Given the description of an element on the screen output the (x, y) to click on. 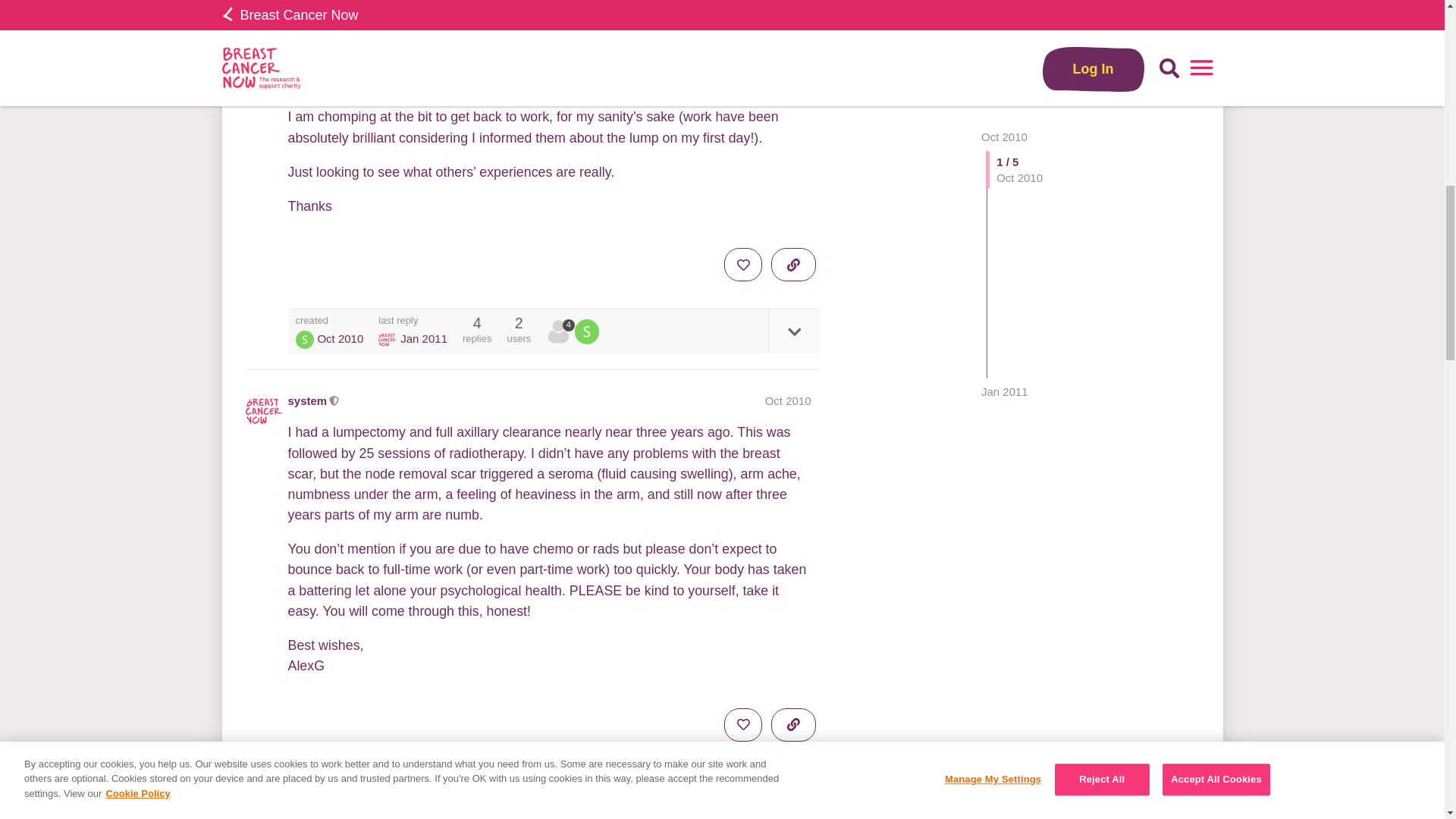
Oct 2010 (787, 799)
Jan 2011 (1004, 20)
like this post (742, 264)
system (559, 331)
SM422 (304, 339)
last reply (412, 320)
copy a link to this post to clipboard (793, 264)
system (558, 331)
13 Jan 2011 21:49 (423, 338)
21 Oct 2010 23:38 (339, 338)
